Given the description of an element on the screen output the (x, y) to click on. 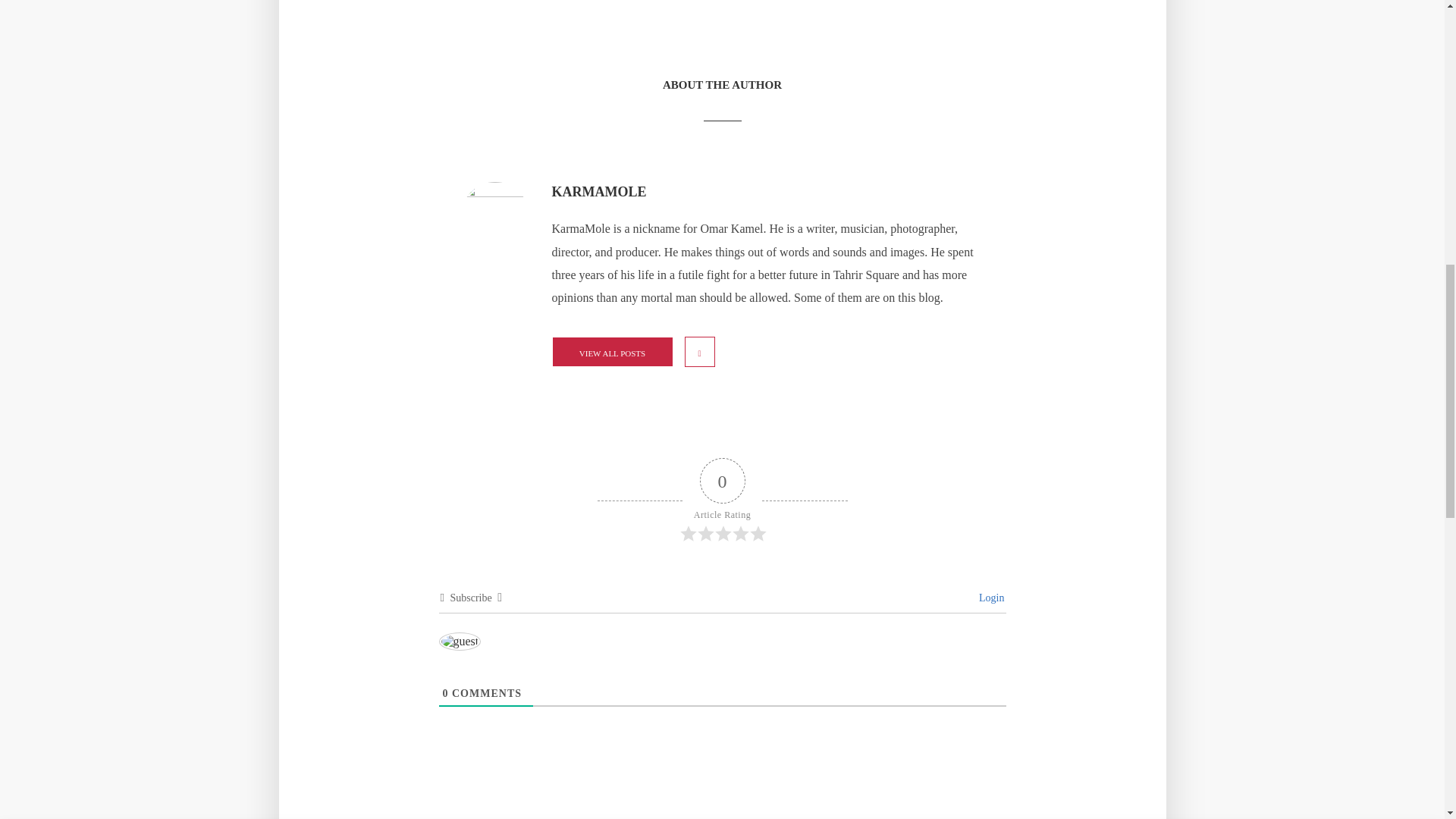
VIEW ALL POSTS (611, 351)
Login (989, 597)
